Given the description of an element on the screen output the (x, y) to click on. 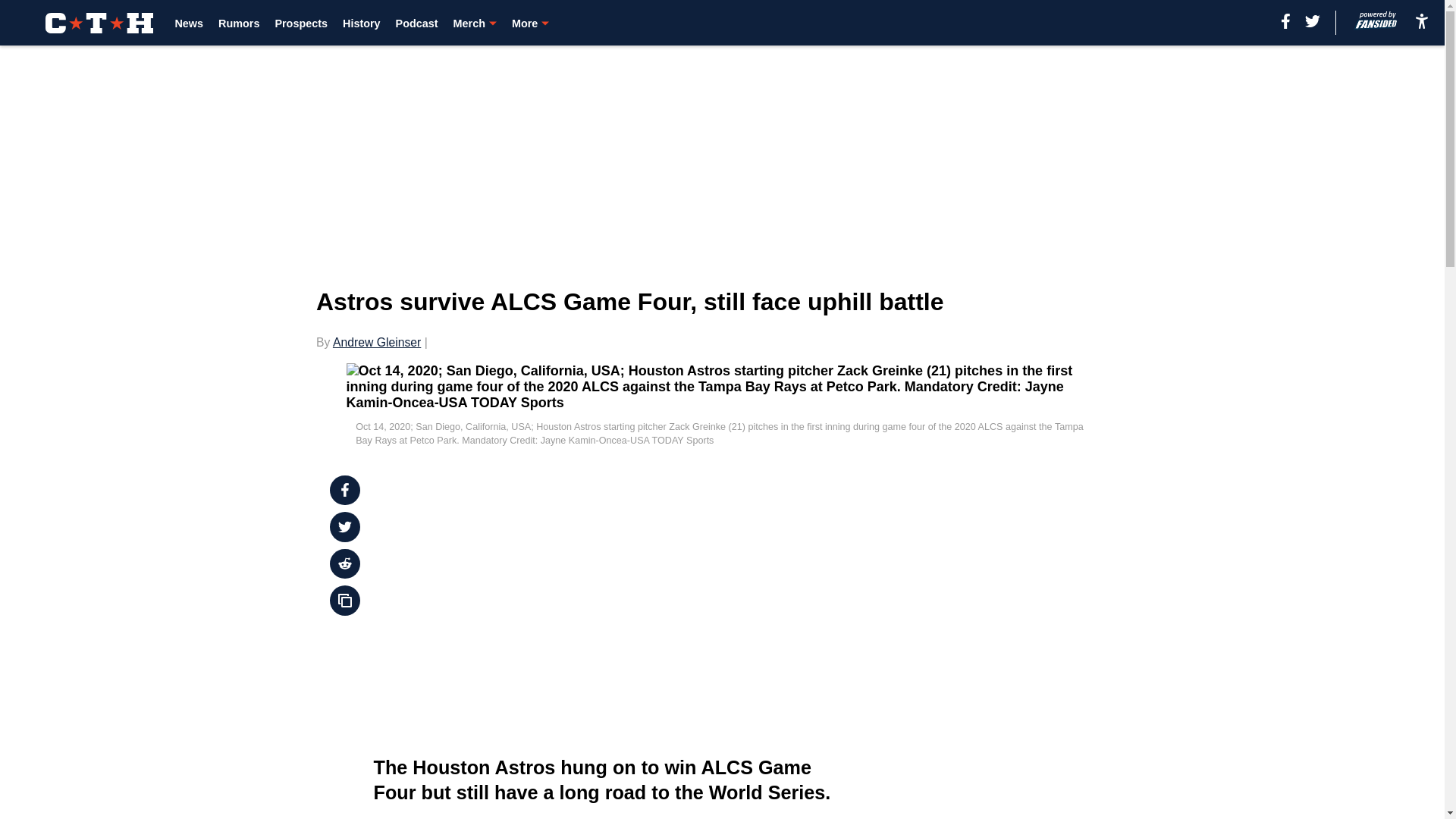
Podcast (417, 23)
News (188, 23)
Prospects (301, 23)
History (361, 23)
Andrew Gleinser (376, 341)
Rumors (238, 23)
